Given the description of an element on the screen output the (x, y) to click on. 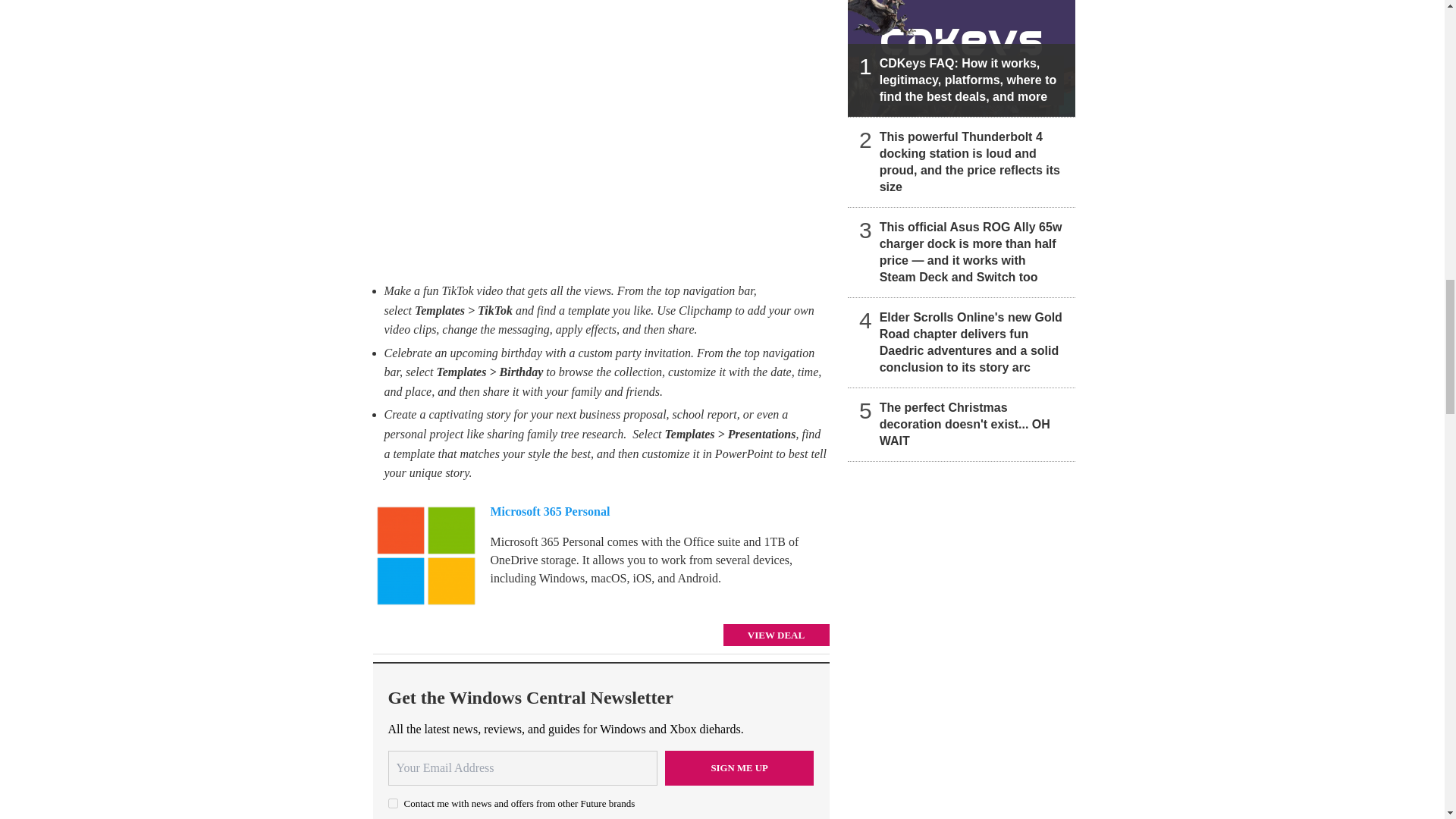
Sign me up (739, 768)
Microsoft 365 Personal (425, 555)
on (392, 803)
